Given the description of an element on the screen output the (x, y) to click on. 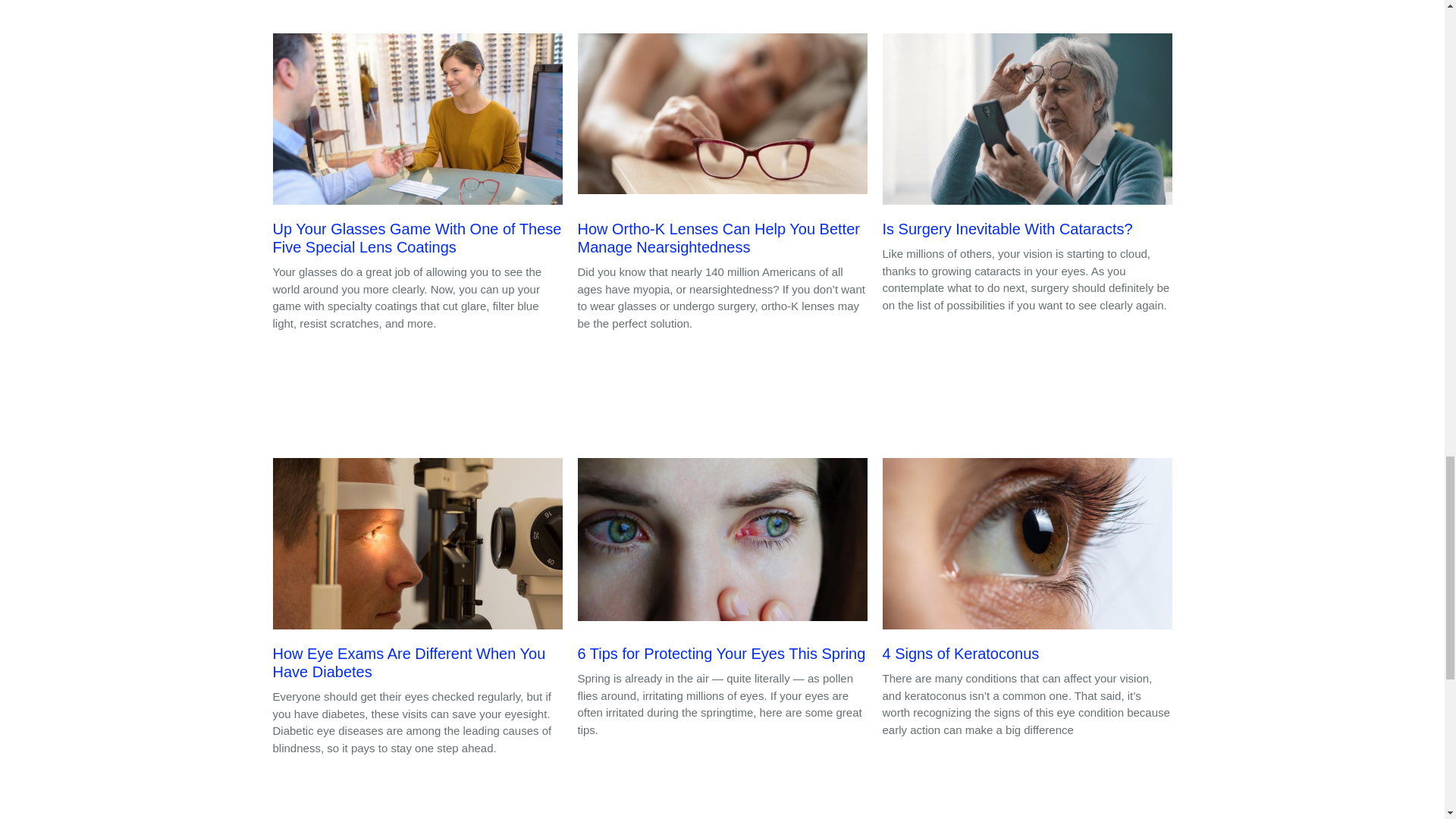
How Eye Exams Are Different When You Have Diabetes (417, 572)
6 Tips for Protecting Your Eyes This Spring (722, 563)
4 Signs of Keratoconus (1027, 563)
Is Surgery Inevitable With Cataracts? (1027, 139)
